Given the description of an element on the screen output the (x, y) to click on. 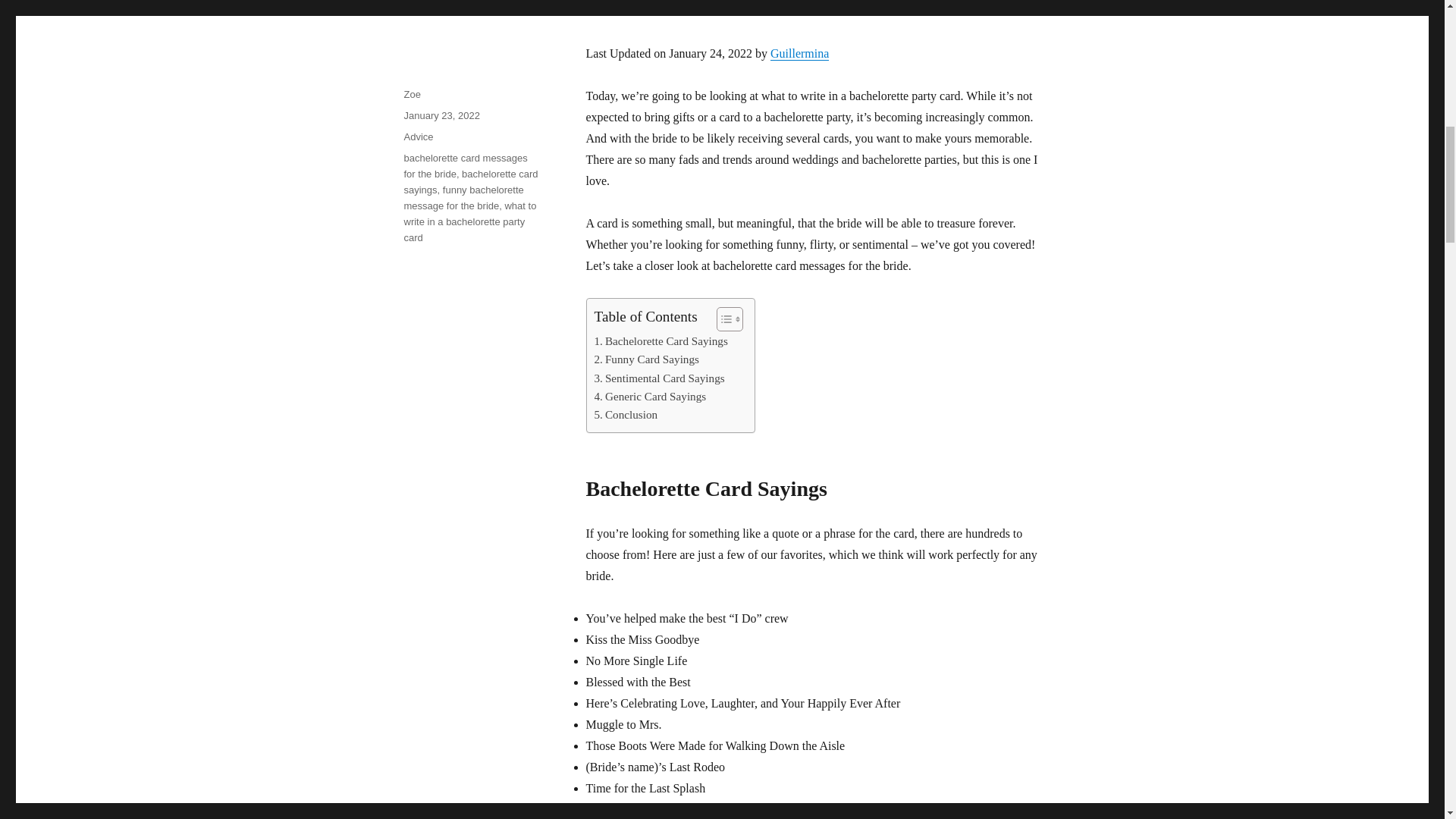
Sentimental Card Sayings (659, 378)
Bachelorette Card Sayings (661, 341)
funny bachelorette message for the bride (462, 197)
Guillermina (799, 52)
Sentimental Card Sayings (659, 378)
Funny Card Sayings (646, 359)
Bachelorette Card Sayings (661, 341)
Conclusion (626, 414)
Funny Card Sayings (646, 359)
Advice (417, 136)
Zoe (411, 93)
January 23, 2022 (441, 115)
bachelorette card sayings (470, 181)
what to write in a bachelorette party card (469, 221)
Conclusion (626, 414)
